Given the description of an element on the screen output the (x, y) to click on. 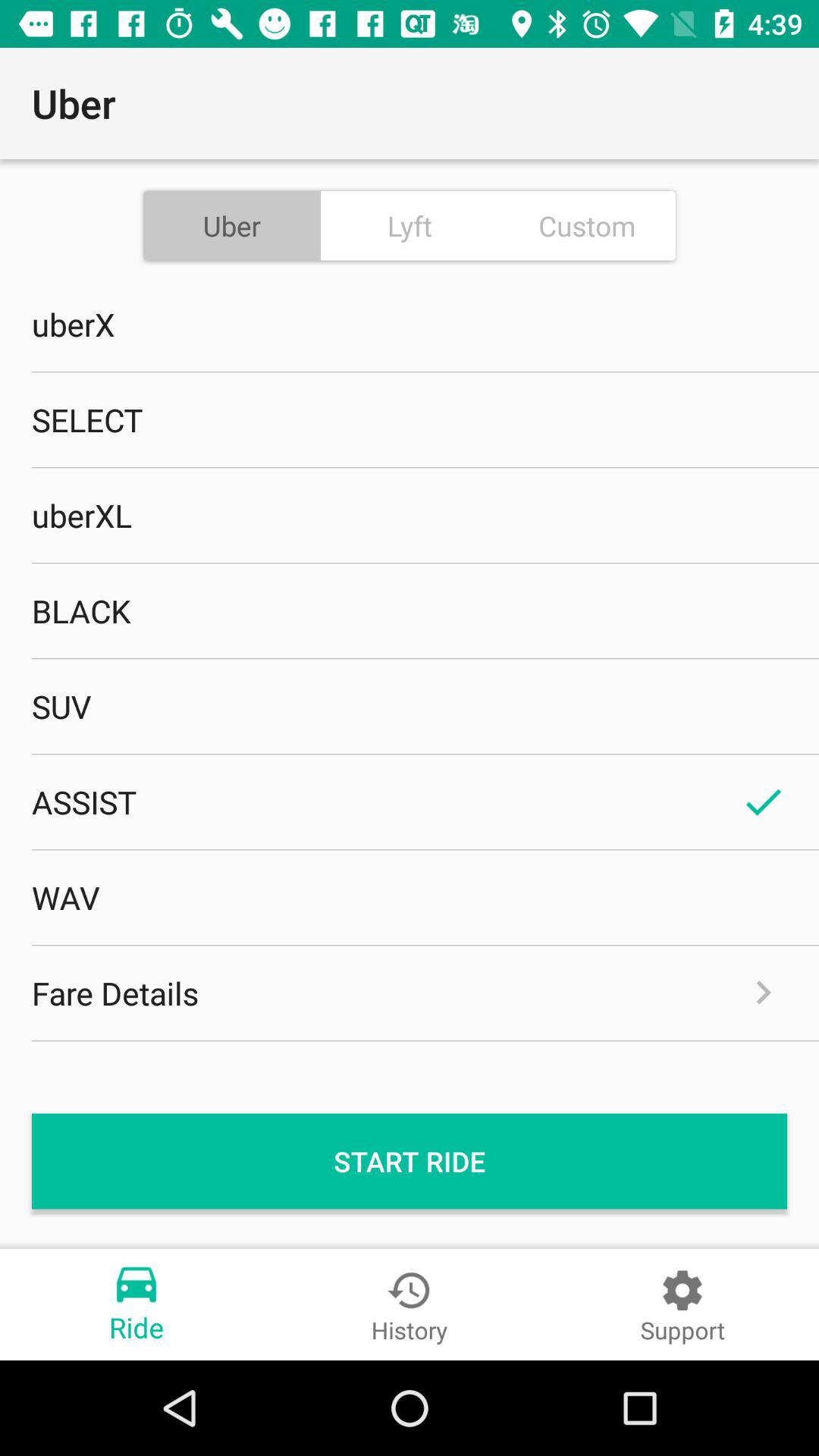
turn off icon next to the custom item (409, 225)
